Given the description of an element on the screen output the (x, y) to click on. 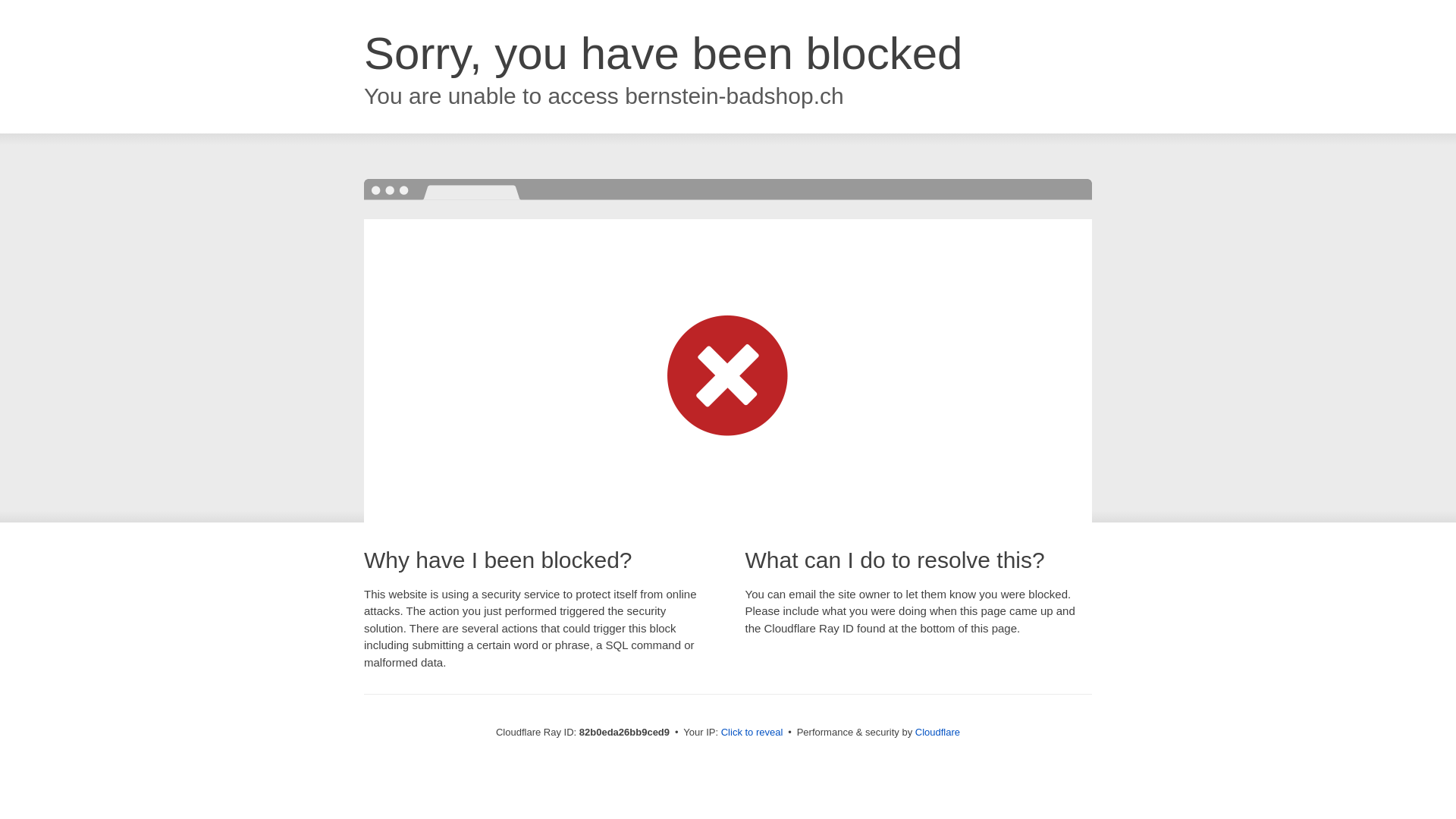
Cloudflare Element type: text (937, 731)
Click to reveal Element type: text (752, 732)
